Given the description of an element on the screen output the (x, y) to click on. 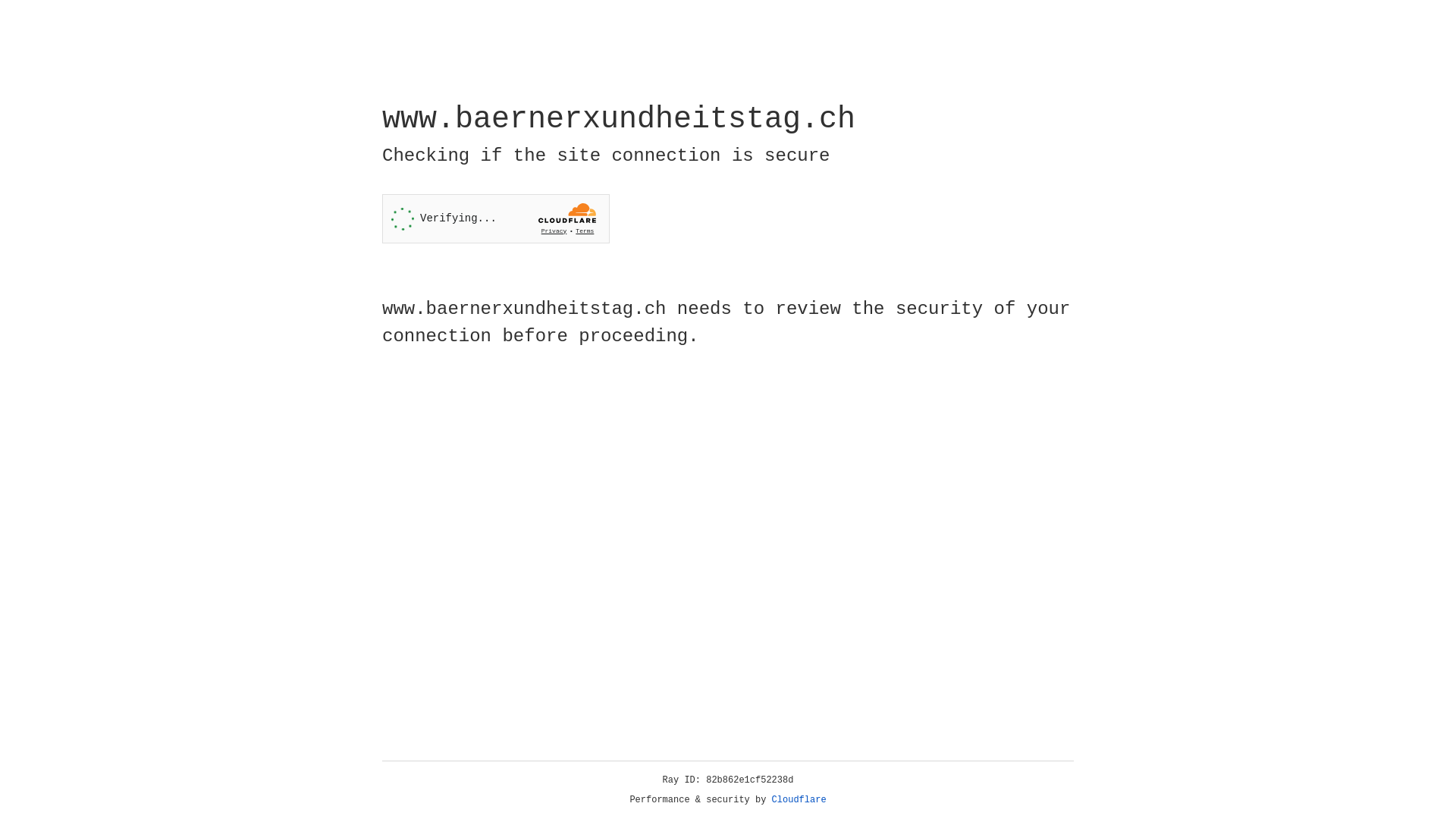
Widget containing a Cloudflare security challenge Element type: hover (495, 218)
Cloudflare Element type: text (798, 799)
